Given the description of an element on the screen output the (x, y) to click on. 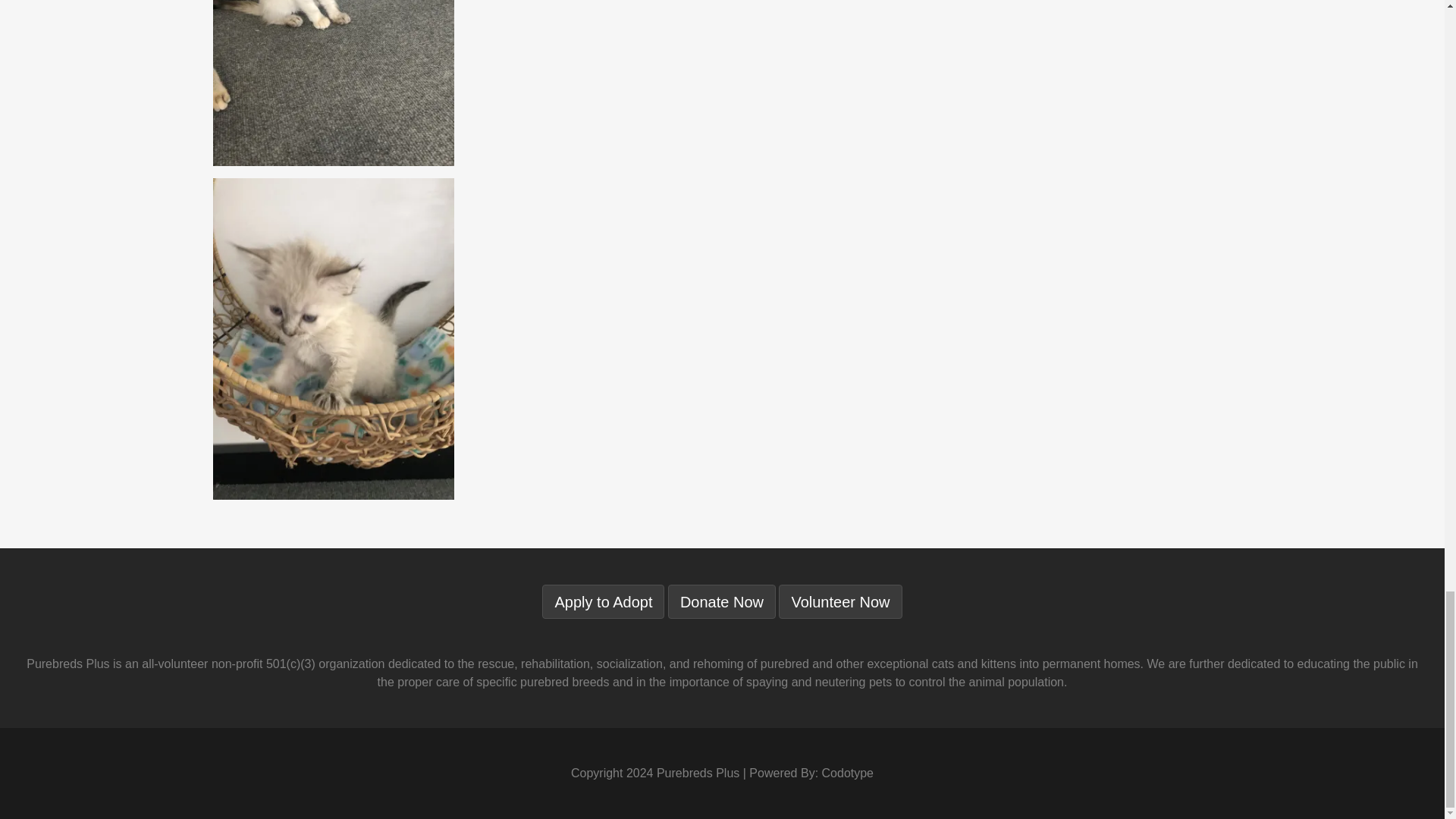
Volunteer Now (839, 601)
Donate Now (722, 601)
Apply to Adopt (602, 601)
